Given the description of an element on the screen output the (x, y) to click on. 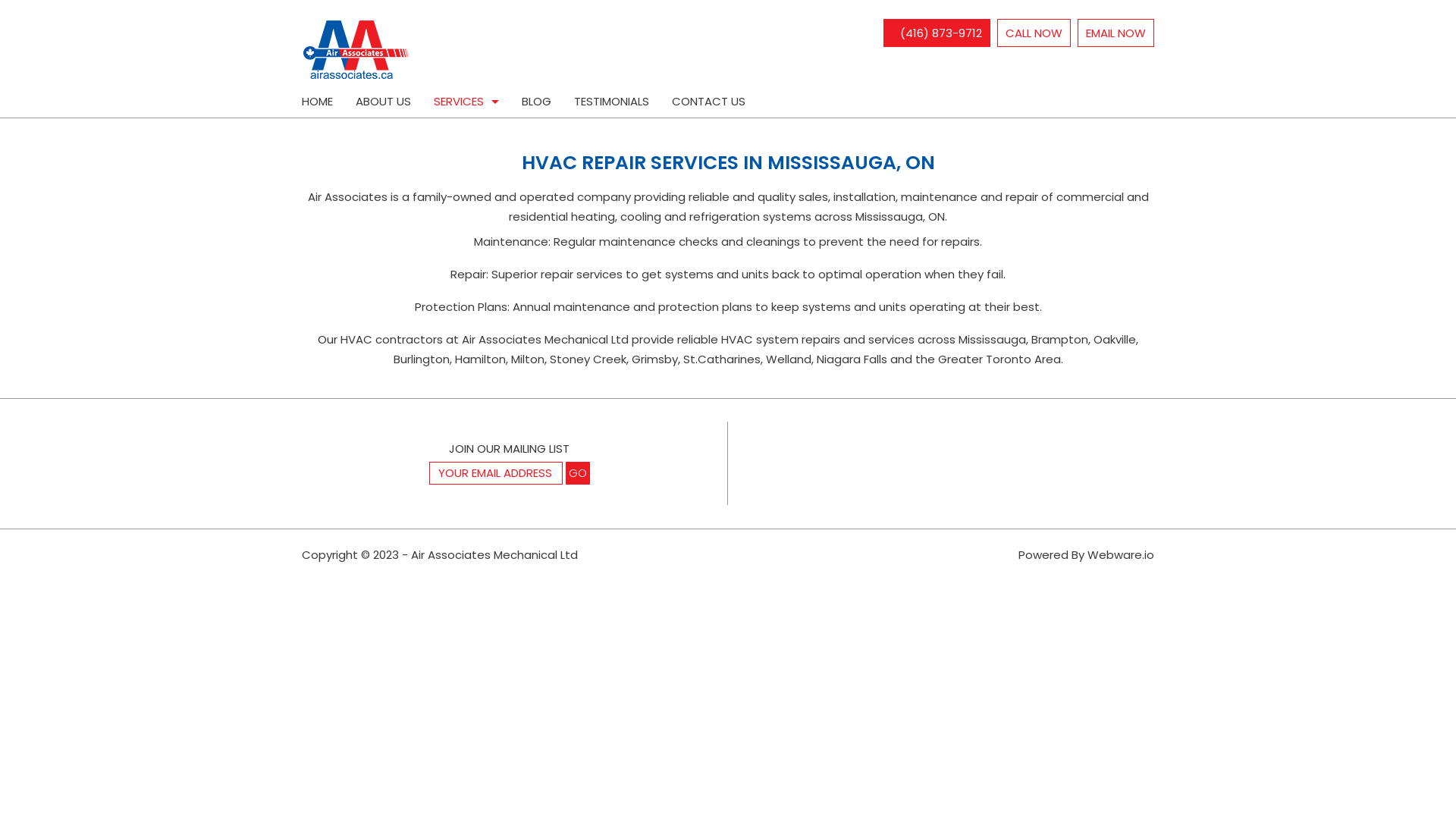
TESTIMONIALS Element type: text (611, 101)
EMAIL NOW Element type: text (1115, 32)
BLOG Element type: text (536, 101)
Your email address Element type: text (495, 472)
HOME Element type: text (322, 101)
SERVICES Element type: text (466, 101)
Webware.io Element type: text (1120, 554)
CALL NOW Element type: text (1033, 32)
ABOUT US Element type: text (383, 101)
Air Associates Mechanical Ltd Element type: text (494, 554)
GO Element type: text (577, 472)
CONTACT US Element type: text (708, 101)
(416) 873-9712 Element type: text (936, 32)
